Given the description of an element on the screen output the (x, y) to click on. 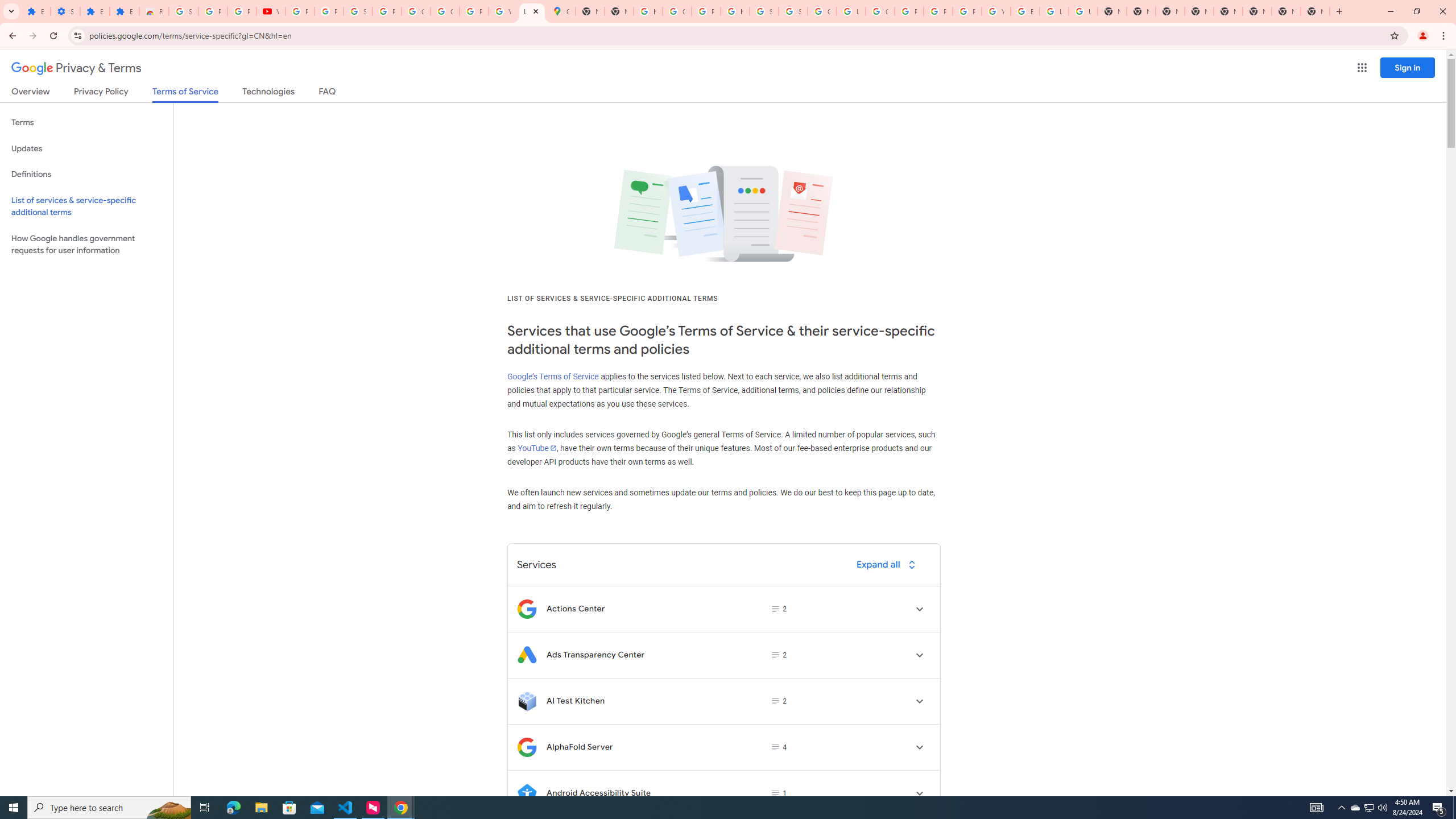
Reviews: Helix Fruit Jump Arcade Game (153, 11)
Logo for Android Accessibility Suite (526, 792)
Extensions (124, 11)
Sign in - Google Accounts (357, 11)
